Given the description of an element on the screen output the (x, y) to click on. 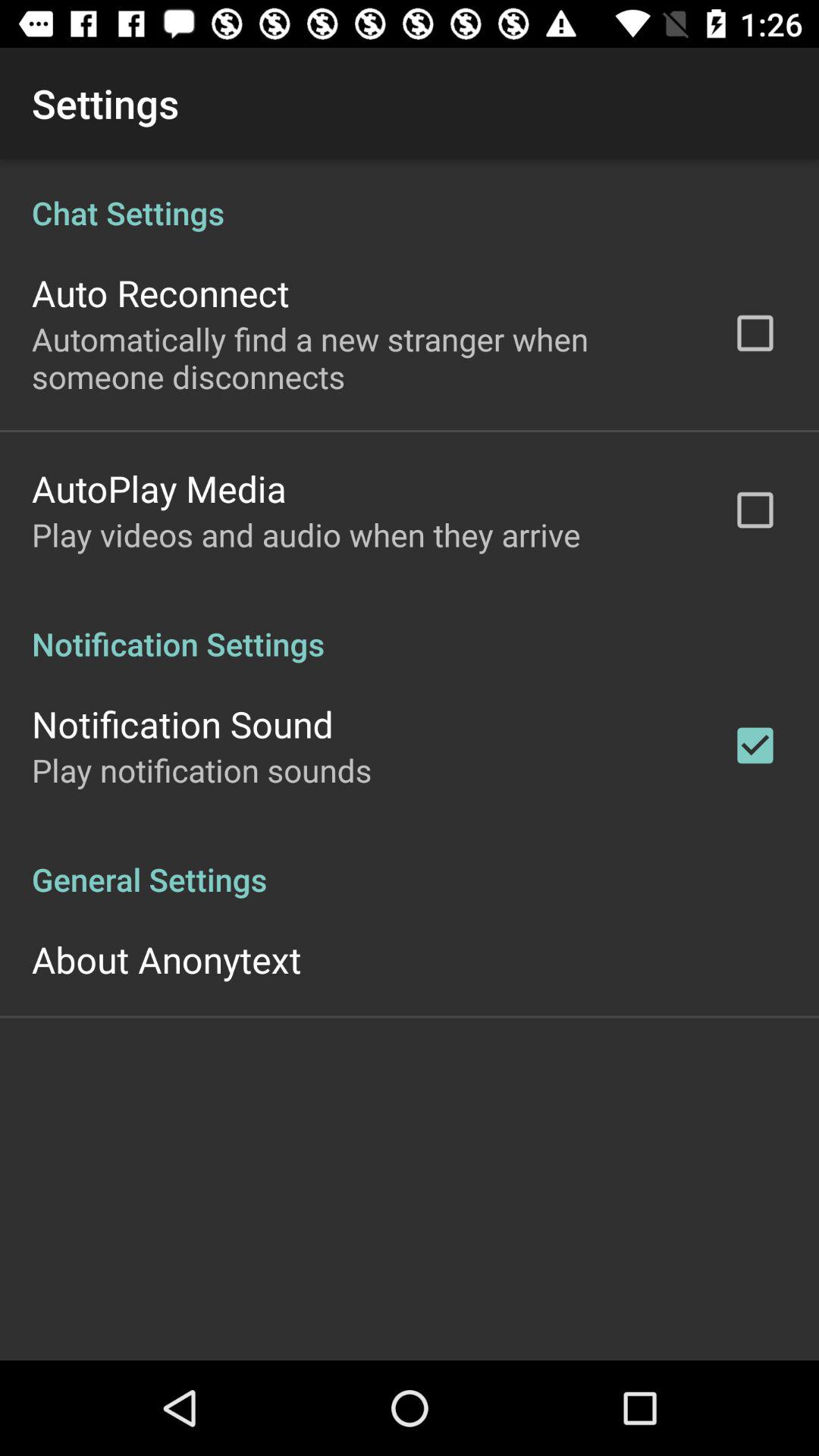
click the notification sound (182, 723)
